Given the description of an element on the screen output the (x, y) to click on. 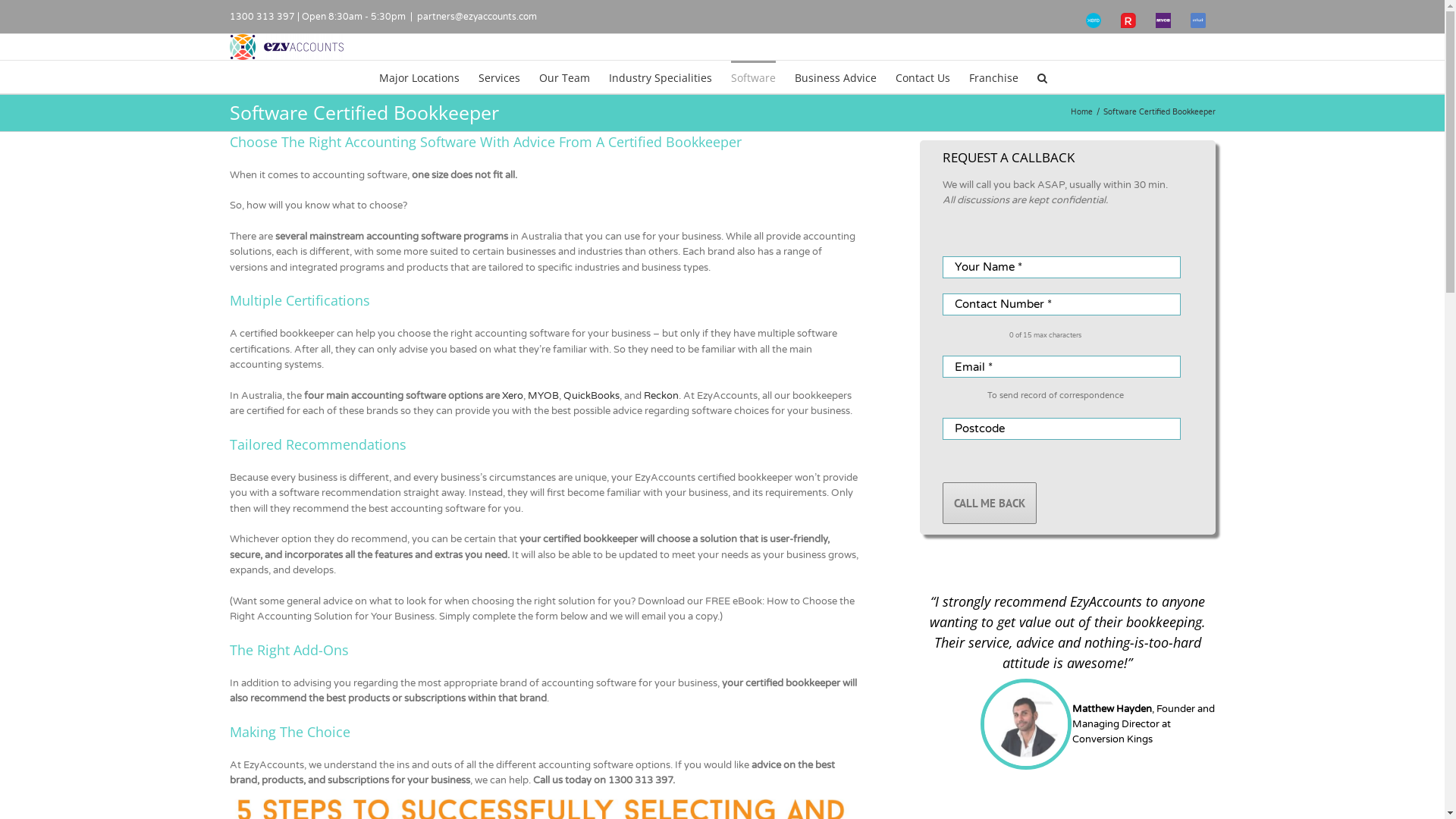
Reckon Element type: text (660, 395)
Xero Element type: text (512, 395)
QuickBooks Element type: text (590, 395)
Contact Us Element type: text (921, 76)
Services Element type: text (498, 76)
Software Element type: text (753, 76)
MYOB Element type: text (542, 395)
Industry Specialities Element type: text (659, 76)
Major Locations Element type: text (419, 76)
Call me Back Element type: text (988, 503)
Business Advice Element type: text (835, 76)
partners@ezyaccounts.com Element type: text (476, 16)
Our Team Element type: text (563, 76)
Home Element type: text (1081, 111)
Franchise Element type: text (993, 76)
Search Element type: hover (1042, 76)
